Given the description of an element on the screen output the (x, y) to click on. 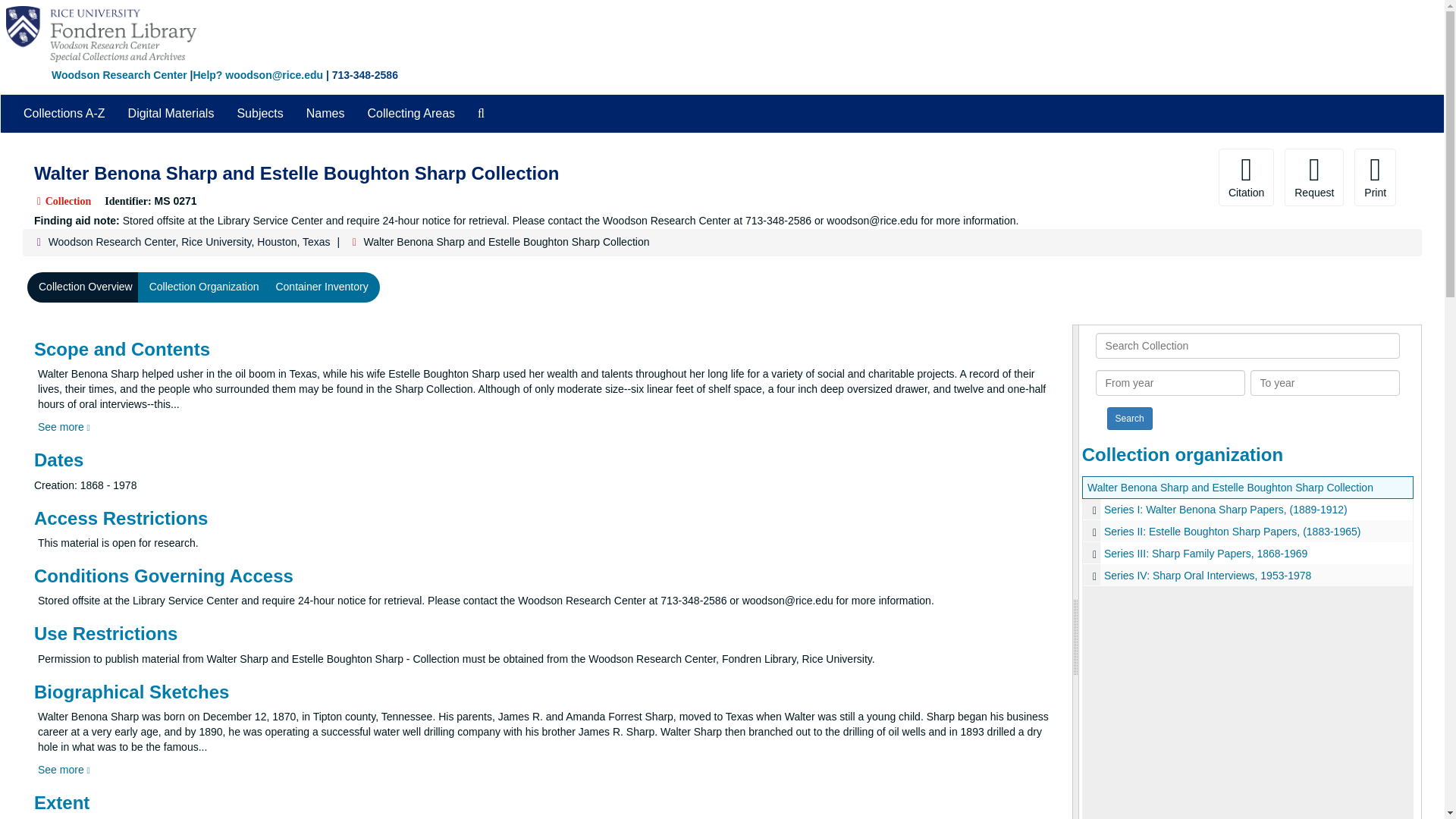
Page Actions (1130, 177)
See more (63, 426)
See more (63, 769)
Digital Materials (170, 113)
Series IV: Sharp Oral Interviews (1247, 575)
Woodson Research Center, Rice University, Houston, Texas (189, 241)
Collections A-Z (63, 113)
Search (1129, 418)
Container Inventory (320, 286)
Subjects (259, 113)
